Given the description of an element on the screen output the (x, y) to click on. 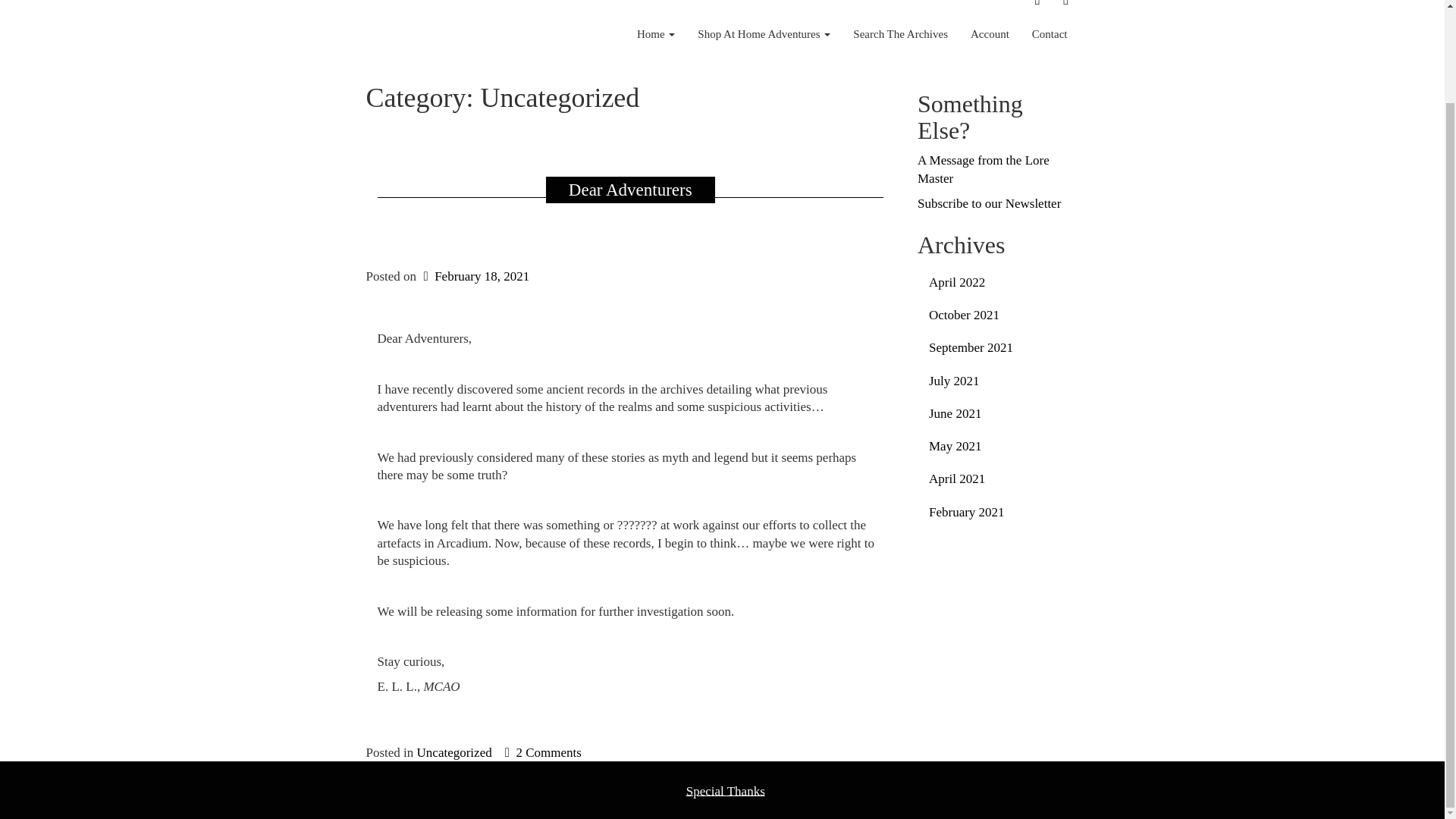
Account (989, 34)
July 2021 (997, 380)
Dear Adventurers (630, 189)
April 2021 (997, 478)
Home (655, 34)
Special Thanks (725, 789)
April 2022 (997, 282)
June 2021 (997, 413)
February 18, 2021 (474, 276)
Uncategorized (454, 752)
A Message from the Lore Master (983, 169)
Subscribe to our Newsletter (989, 203)
Search The Archives (900, 34)
May 2021 (997, 445)
